Given the description of an element on the screen output the (x, y) to click on. 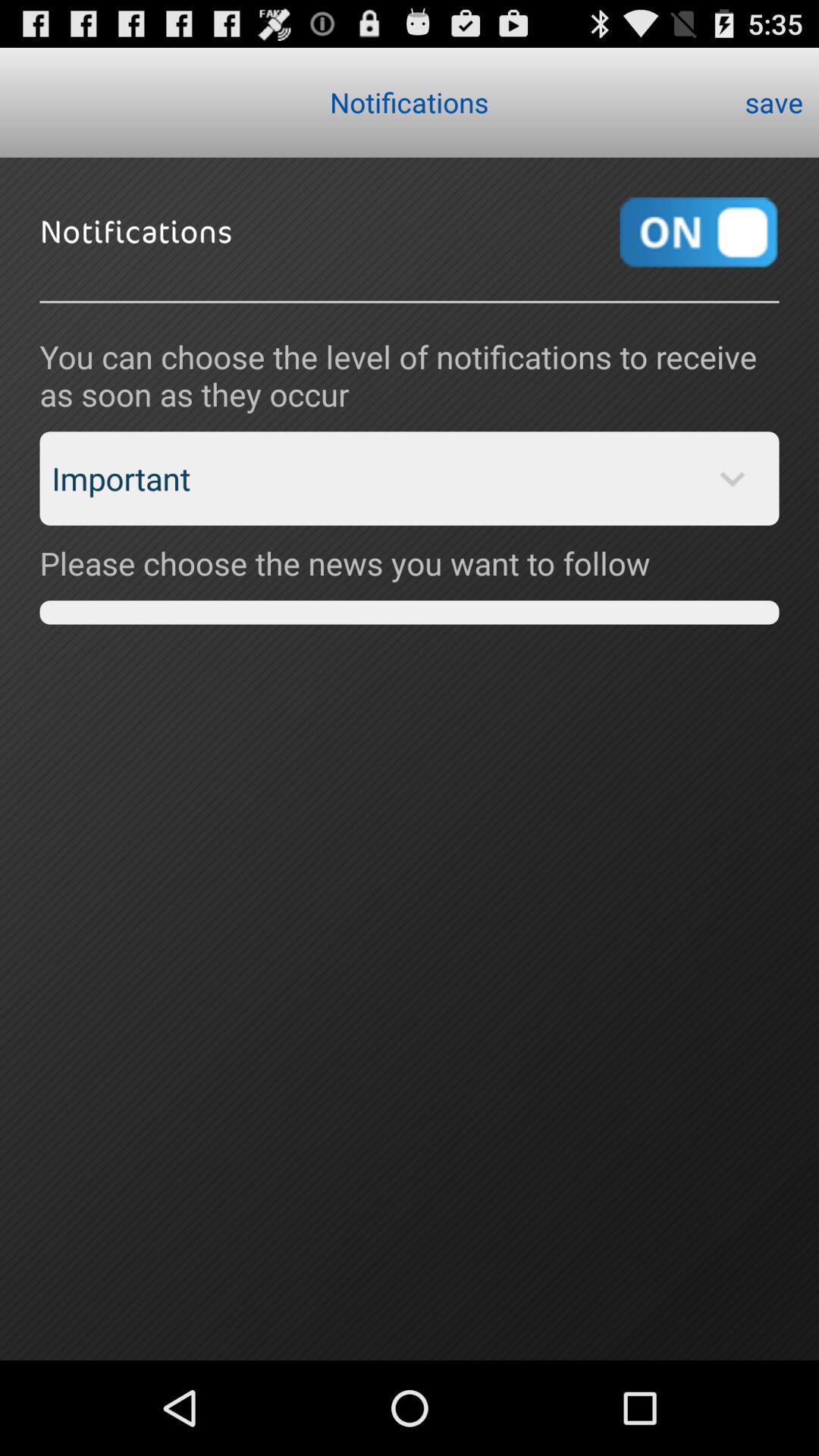
open the app to the right of the notifications icon (774, 102)
